Given the description of an element on the screen output the (x, y) to click on. 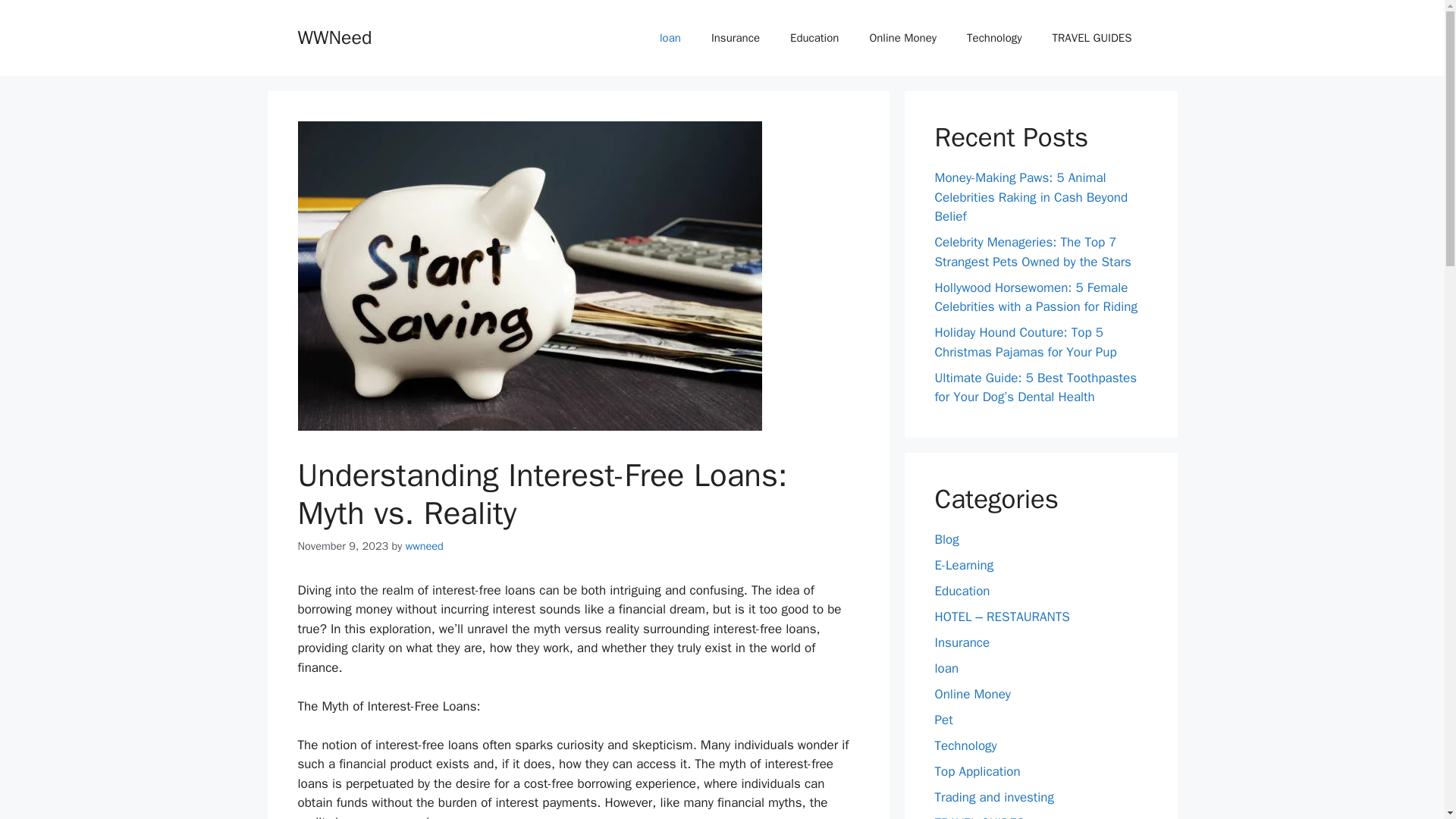
E-Learning (963, 564)
View all posts by wwneed (425, 545)
Trading and investing (994, 796)
Technology (964, 744)
loan (670, 37)
Technology (994, 37)
Insurance (734, 37)
Education (813, 37)
Online Money (902, 37)
wwneed (425, 545)
TRAVEL GUIDES (979, 816)
Pet (943, 719)
Education (962, 590)
